Given the description of an element on the screen output the (x, y) to click on. 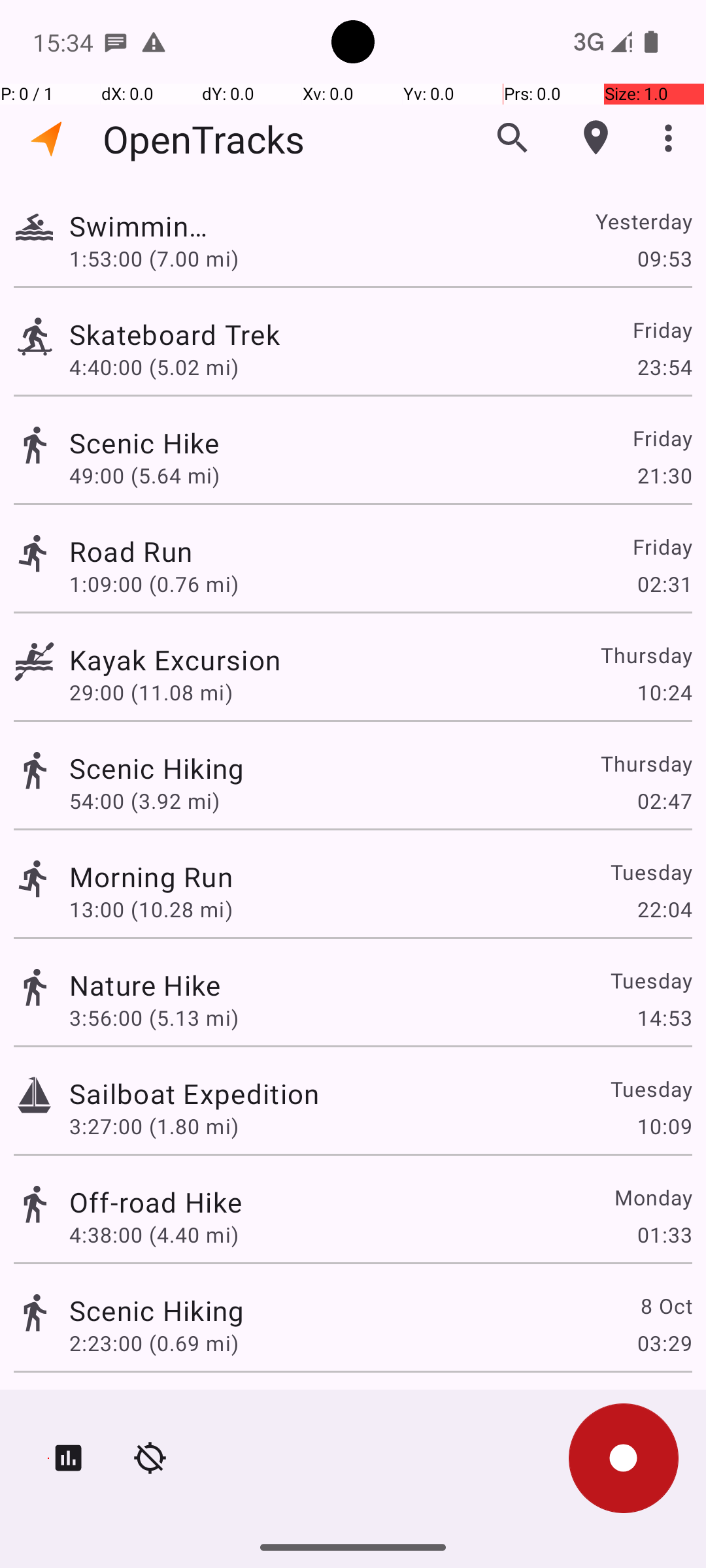
Swimming Adventure Element type: android.widget.TextView (144, 225)
1:53:00 (7.00 mi) Element type: android.widget.TextView (153, 258)
09:53 Element type: android.widget.TextView (664, 258)
Skateboard Trek Element type: android.widget.TextView (193, 333)
4:40:00 (5.02 mi) Element type: android.widget.TextView (153, 366)
23:54 Element type: android.widget.TextView (664, 366)
Scenic Hike Element type: android.widget.TextView (155, 442)
49:00 (5.64 mi) Element type: android.widget.TextView (153, 475)
21:30 Element type: android.widget.TextView (664, 475)
Road Run Element type: android.widget.TextView (156, 550)
1:09:00 (0.76 mi) Element type: android.widget.TextView (153, 583)
02:31 Element type: android.widget.TextView (664, 583)
Kayak Excursion Element type: android.widget.TextView (189, 659)
29:00 (11.08 mi) Element type: android.widget.TextView (153, 692)
10:24 Element type: android.widget.TextView (664, 692)
Scenic Hiking Element type: android.widget.TextView (156, 767)
54:00 (3.92 mi) Element type: android.widget.TextView (144, 800)
02:47 Element type: android.widget.TextView (664, 800)
Morning Run Element type: android.widget.TextView (150, 876)
13:00 (10.28 mi) Element type: android.widget.TextView (150, 909)
22:04 Element type: android.widget.TextView (664, 909)
Nature Hike Element type: android.widget.TextView (144, 984)
3:56:00 (5.13 mi) Element type: android.widget.TextView (153, 1017)
14:53 Element type: android.widget.TextView (664, 1017)
Sailboat Expedition Element type: android.widget.TextView (193, 1092)
3:27:00 (1.80 mi) Element type: android.widget.TextView (153, 1125)
10:09 Element type: android.widget.TextView (664, 1125)
Off-road Hike Element type: android.widget.TextView (155, 1201)
4:38:00 (4.40 mi) Element type: android.widget.TextView (153, 1234)
01:33 Element type: android.widget.TextView (664, 1234)
8 Oct Element type: android.widget.TextView (665, 1305)
2:23:00 (0.69 mi) Element type: android.widget.TextView (153, 1342)
03:29 Element type: android.widget.TextView (664, 1342)
Mindful Movement Element type: android.widget.TextView (189, 1408)
6 Oct Element type: android.widget.TextView (665, 1408)
